Given the description of an element on the screen output the (x, y) to click on. 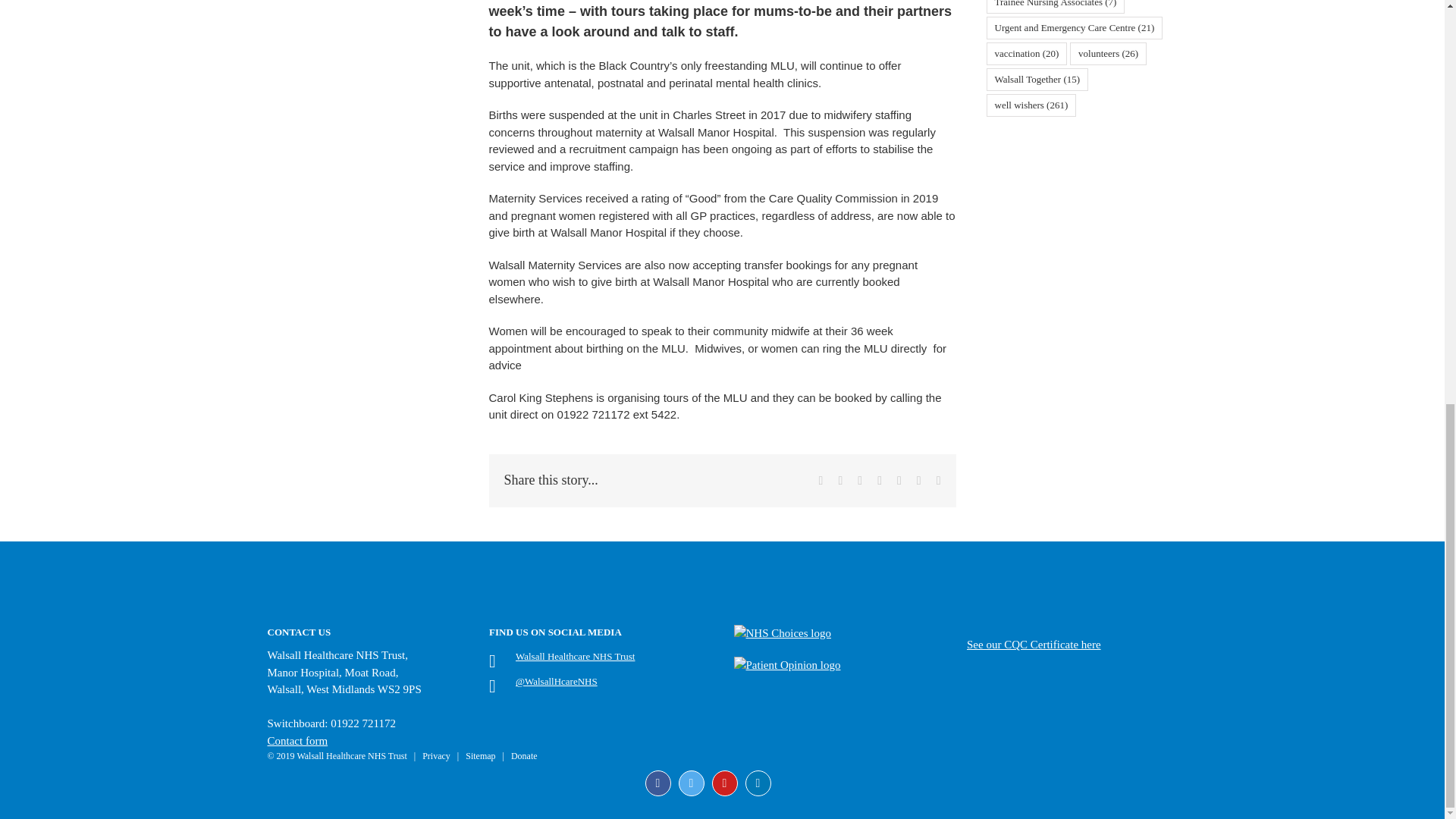
LinkedIn (757, 783)
Twitter (690, 783)
YouTube (723, 783)
Facebook (657, 783)
